Given the description of an element on the screen output the (x, y) to click on. 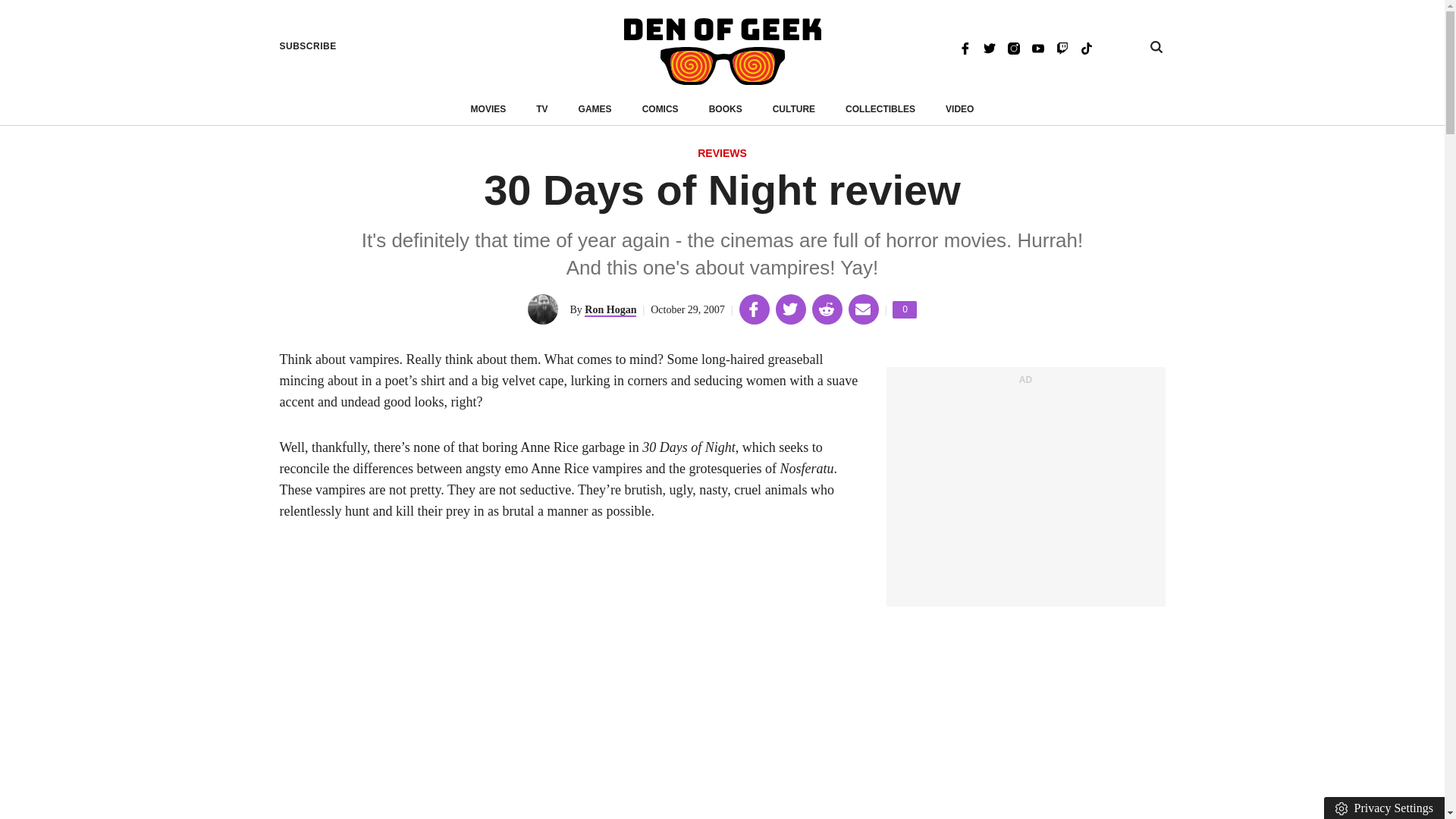
CULTURE (794, 109)
GAMES (594, 109)
Twitch (1061, 46)
Instagram (1013, 46)
MOVIES (488, 109)
TikTok (1085, 46)
COMICS (660, 109)
Ron Hogan (610, 309)
REVIEWS (904, 309)
BOOKS (721, 153)
Twitter (725, 109)
SUBSCRIBE (988, 46)
Den of Geek (307, 46)
COLLECTIBLES (722, 52)
